Given the description of an element on the screen output the (x, y) to click on. 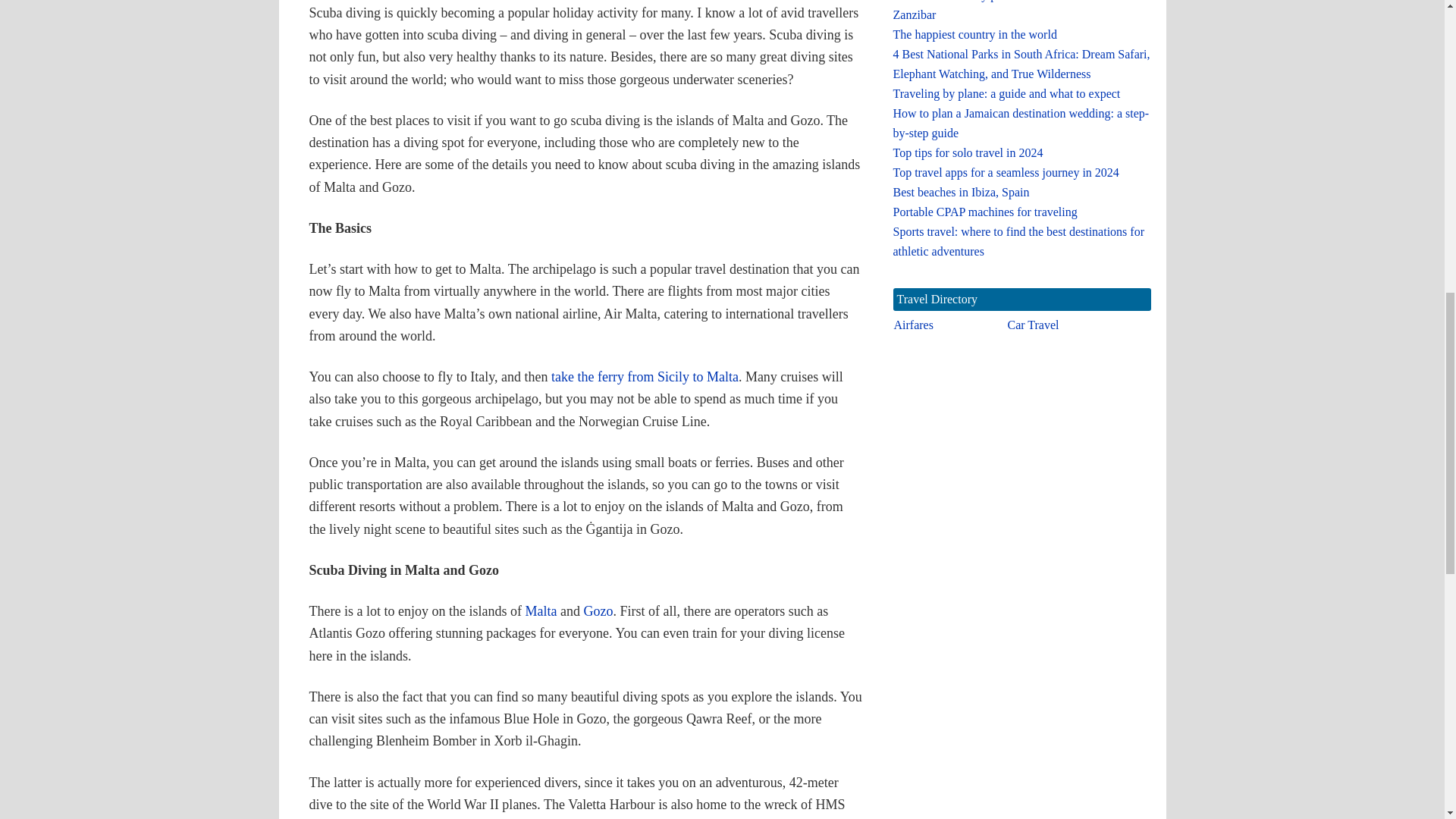
Car Travel (1032, 324)
take the ferry from Sicily to Malta (644, 376)
Airfares (913, 324)
Gozo (597, 611)
Top tips for solo travel in 2024 (968, 152)
Portable CPAP machines for traveling (985, 211)
Traveling by plane: a guide and what to expect (1007, 92)
